Given the description of an element on the screen output the (x, y) to click on. 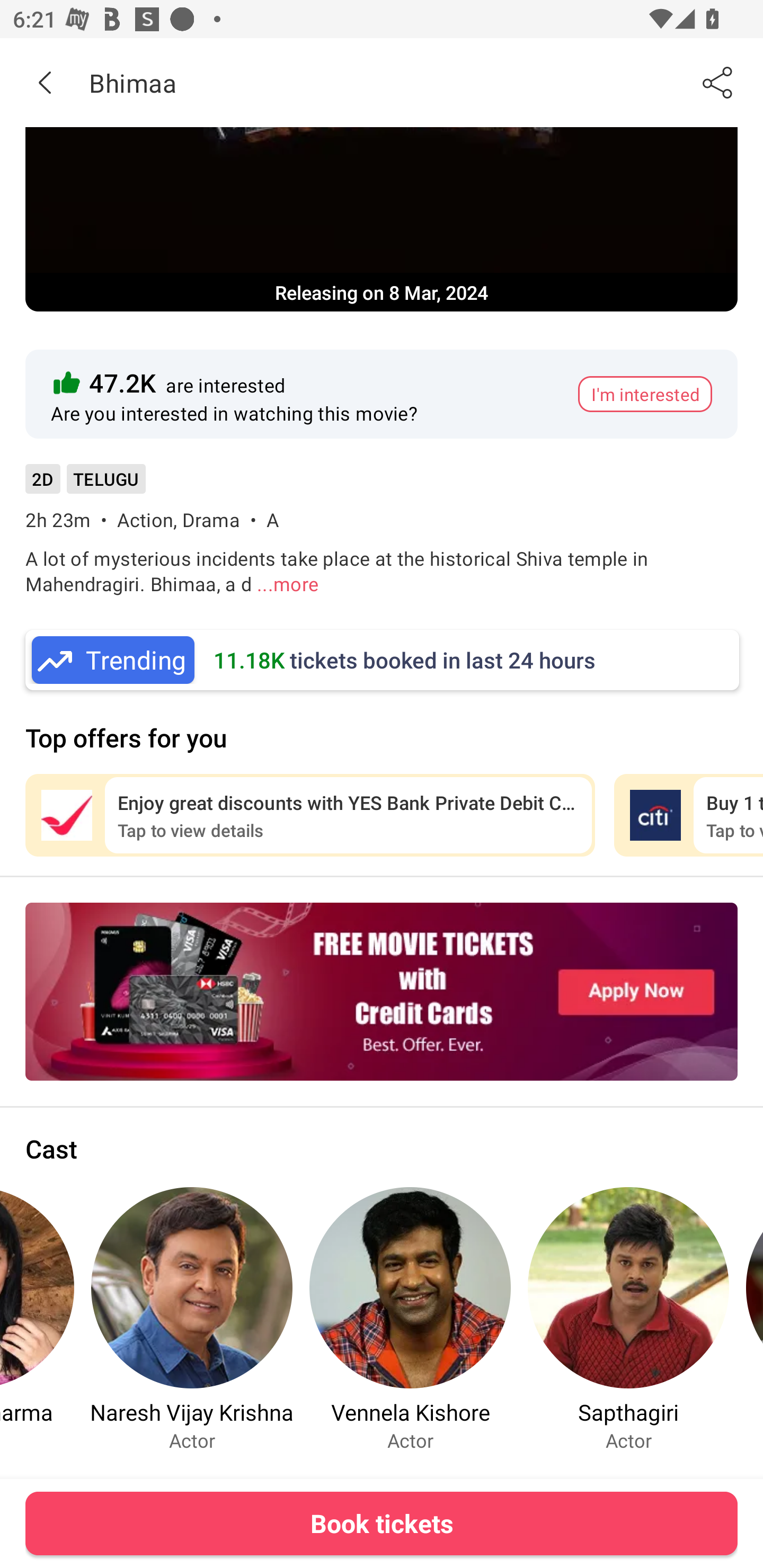
Back (44, 82)
Share (718, 82)
Movie Banner Releasing on 8 Mar, 2024 (381, 219)
I'm interested (644, 394)
2D TELUGU (85, 485)
Naresh Vijay Krishna Actor (191, 1319)
Vennela Kishore Actor (409, 1319)
Sapthagiri Actor (627, 1319)
Book tickets (381, 1523)
